Given the description of an element on the screen output the (x, y) to click on. 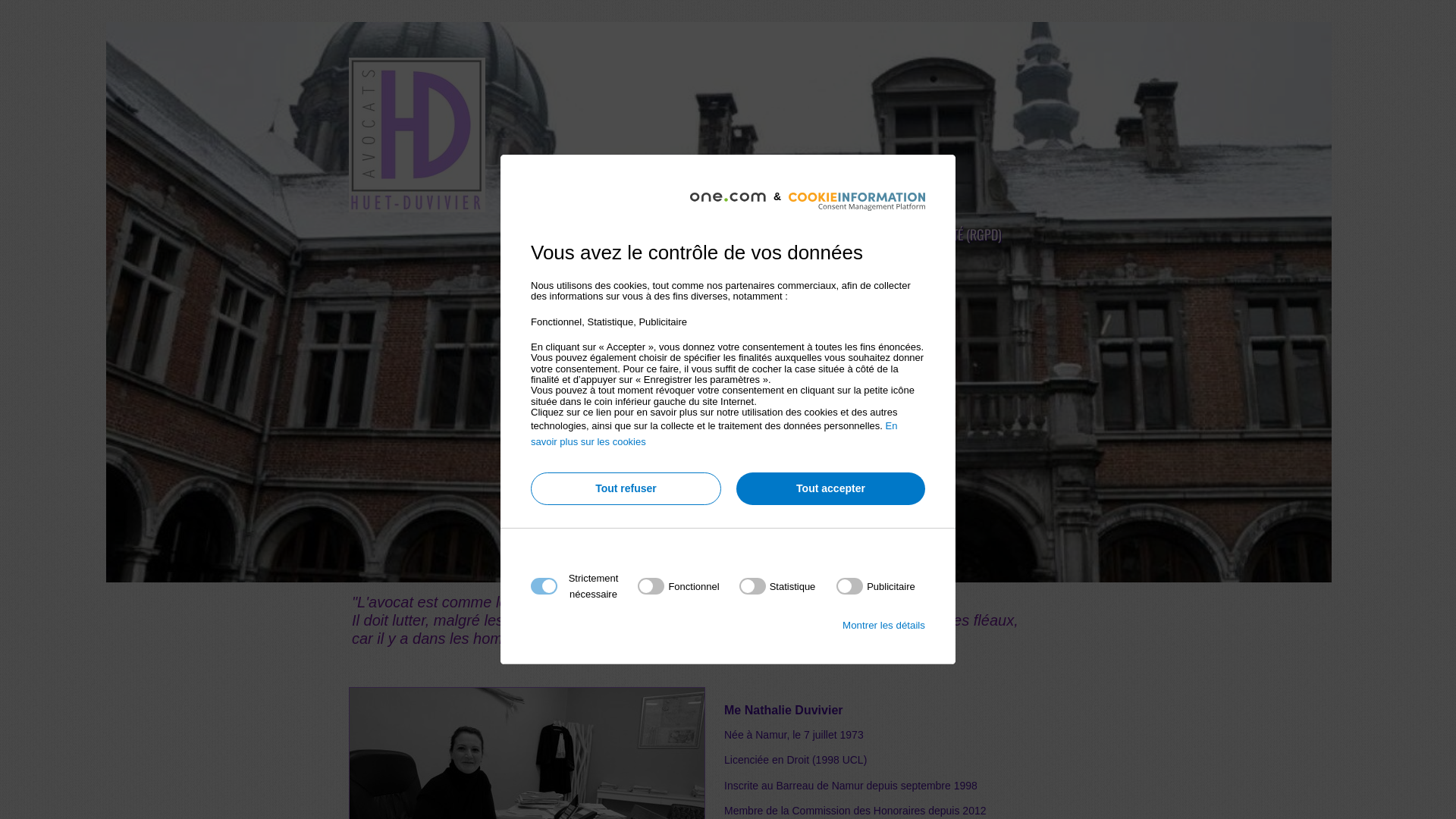
En savoir plus sur les cookies Element type: text (713, 433)
HONORAIRES Element type: text (708, 233)
CABINET AVOCATSHD Element type: text (577, 233)
Tout accepter Element type: text (830, 488)
on Element type: text (677, 586)
Fonctionnel Element type: text (723, 769)
on Element type: text (875, 586)
on Element type: text (777, 586)
Tout refuser Element type: text (625, 488)
CONTACT Element type: text (809, 233)
